Given the description of an element on the screen output the (x, y) to click on. 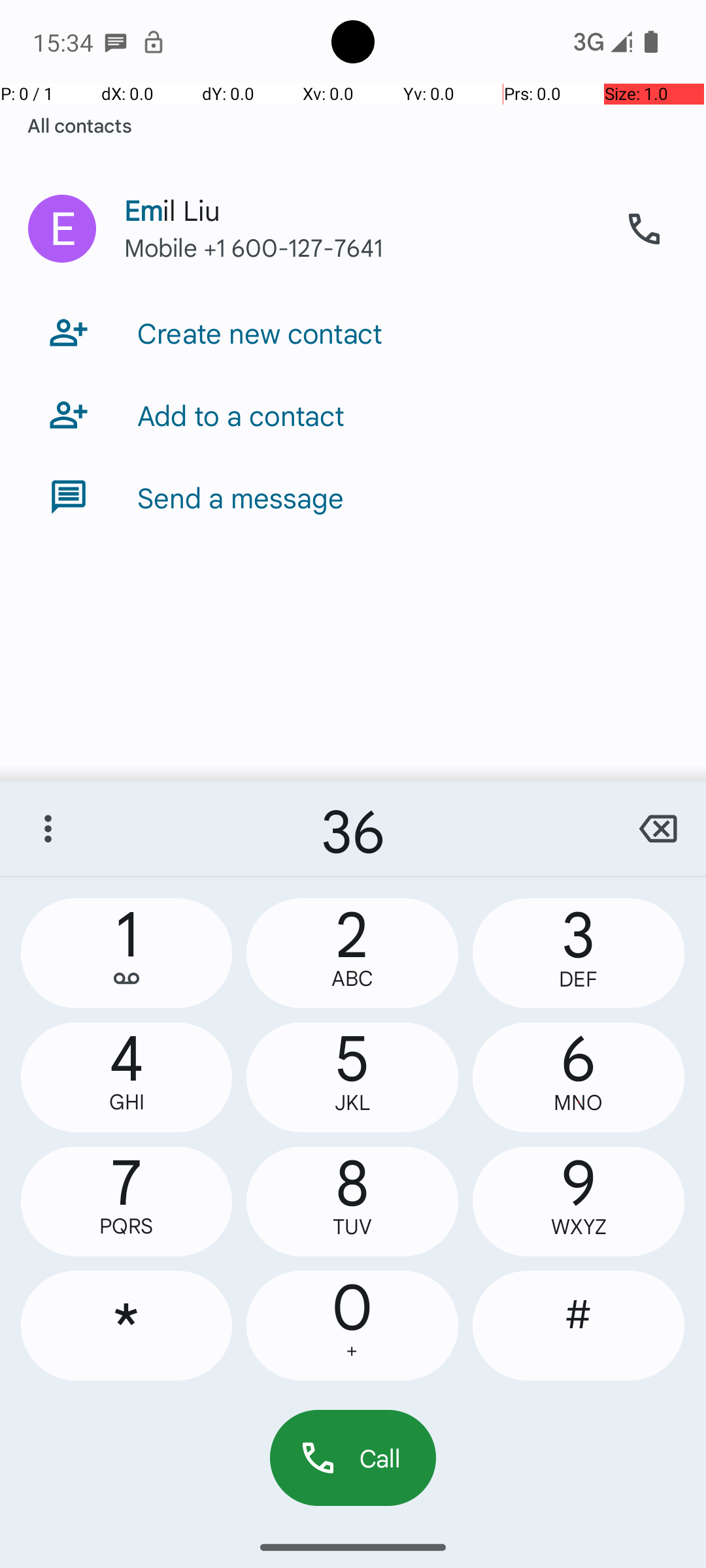
36 Element type: android.widget.EditText (352, 828)
All contacts Element type: android.widget.TextView (79, 124)
Quick contact for Emil Liu Element type: android.widget.QuickContactBadge (62, 228)
Emil Liu Element type: android.widget.TextView (360, 197)
Mobile ‪+1 600-127-7641‬ Element type: android.widget.TextView (360, 260)
